Given the description of an element on the screen output the (x, y) to click on. 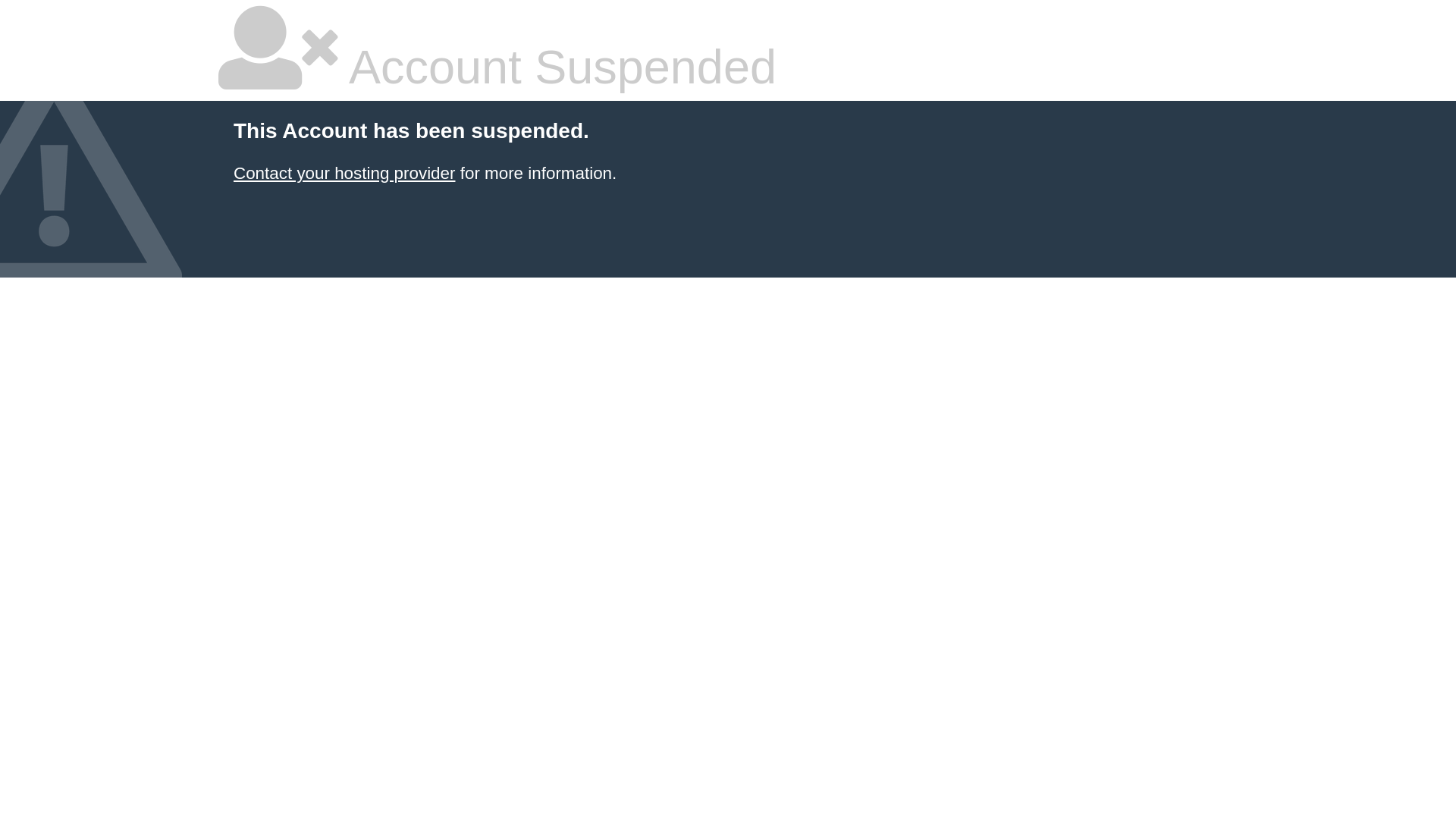
Contact your hosting provider Element type: text (344, 172)
